Given the description of an element on the screen output the (x, y) to click on. 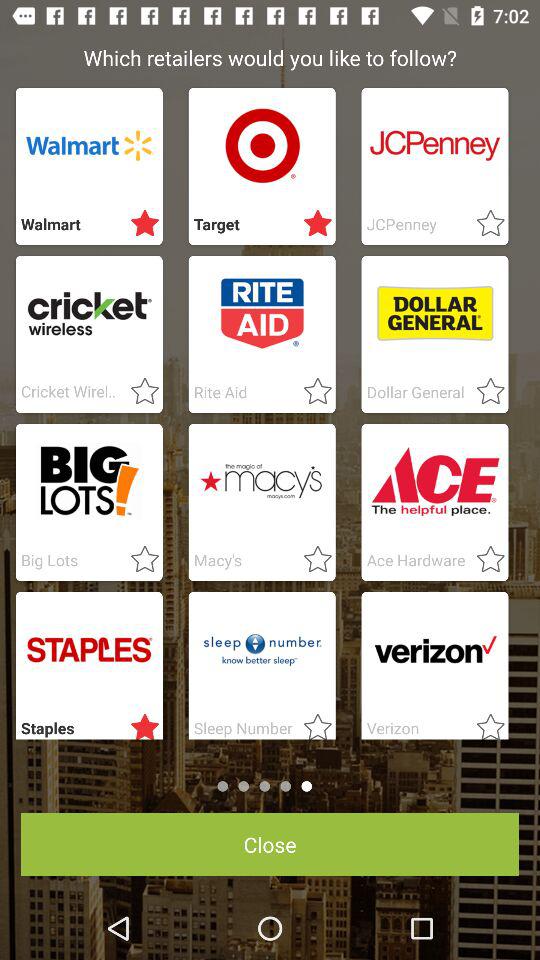
star rating (312, 392)
